Given the description of an element on the screen output the (x, y) to click on. 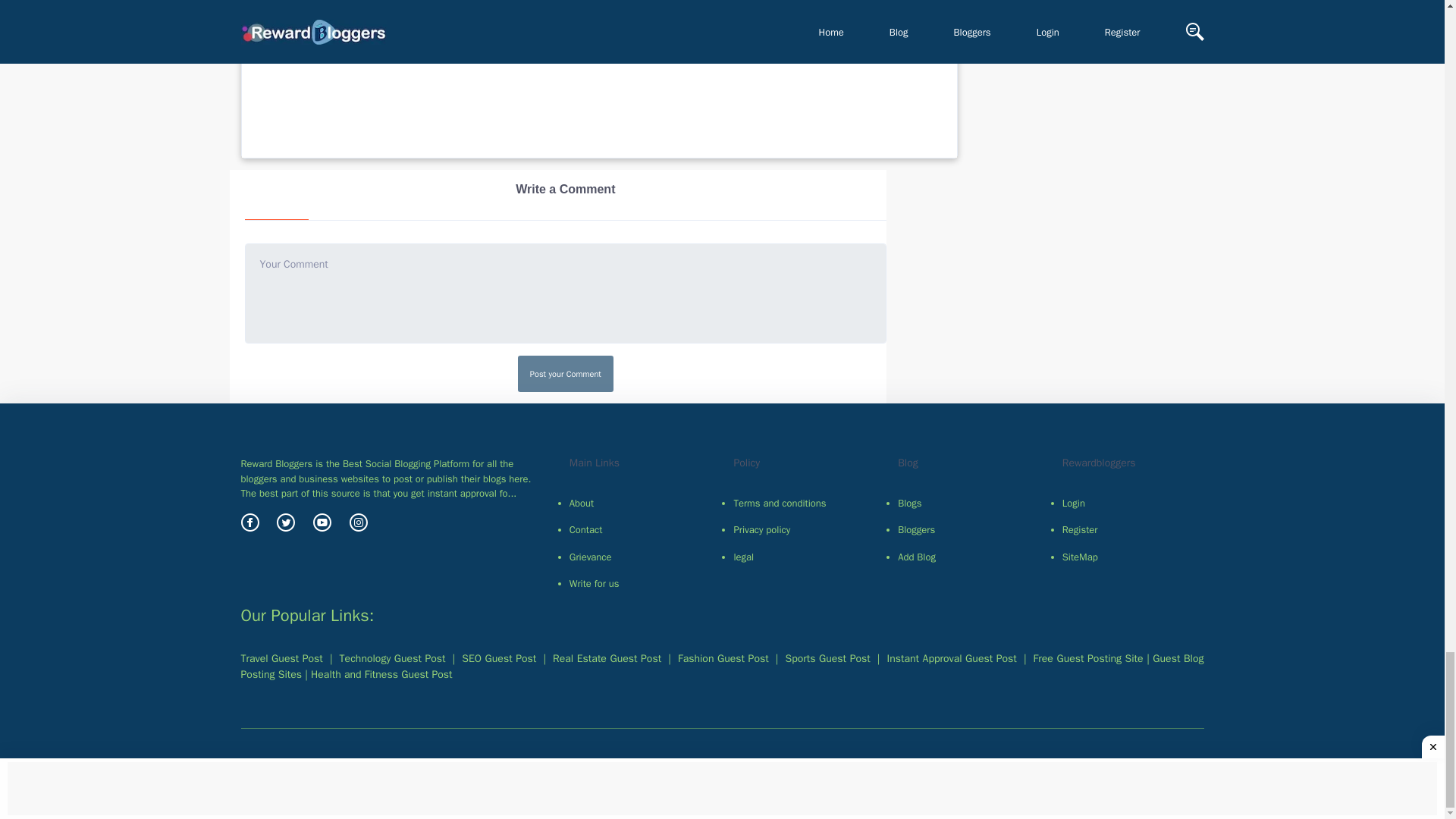
Sports Guest Post (828, 658)
Instant Approval Guest Post (951, 658)
Travel Guest Post (282, 658)
SEO Guest Post (498, 658)
Instant Approval Guest Post (381, 674)
Fashion Guest Post (723, 658)
Real Estate Guest Post (607, 658)
Technology Guest Post (392, 658)
Guest Blog Posting WebSite (722, 665)
Free Guest Posting Site (1087, 658)
